Given the description of an element on the screen output the (x, y) to click on. 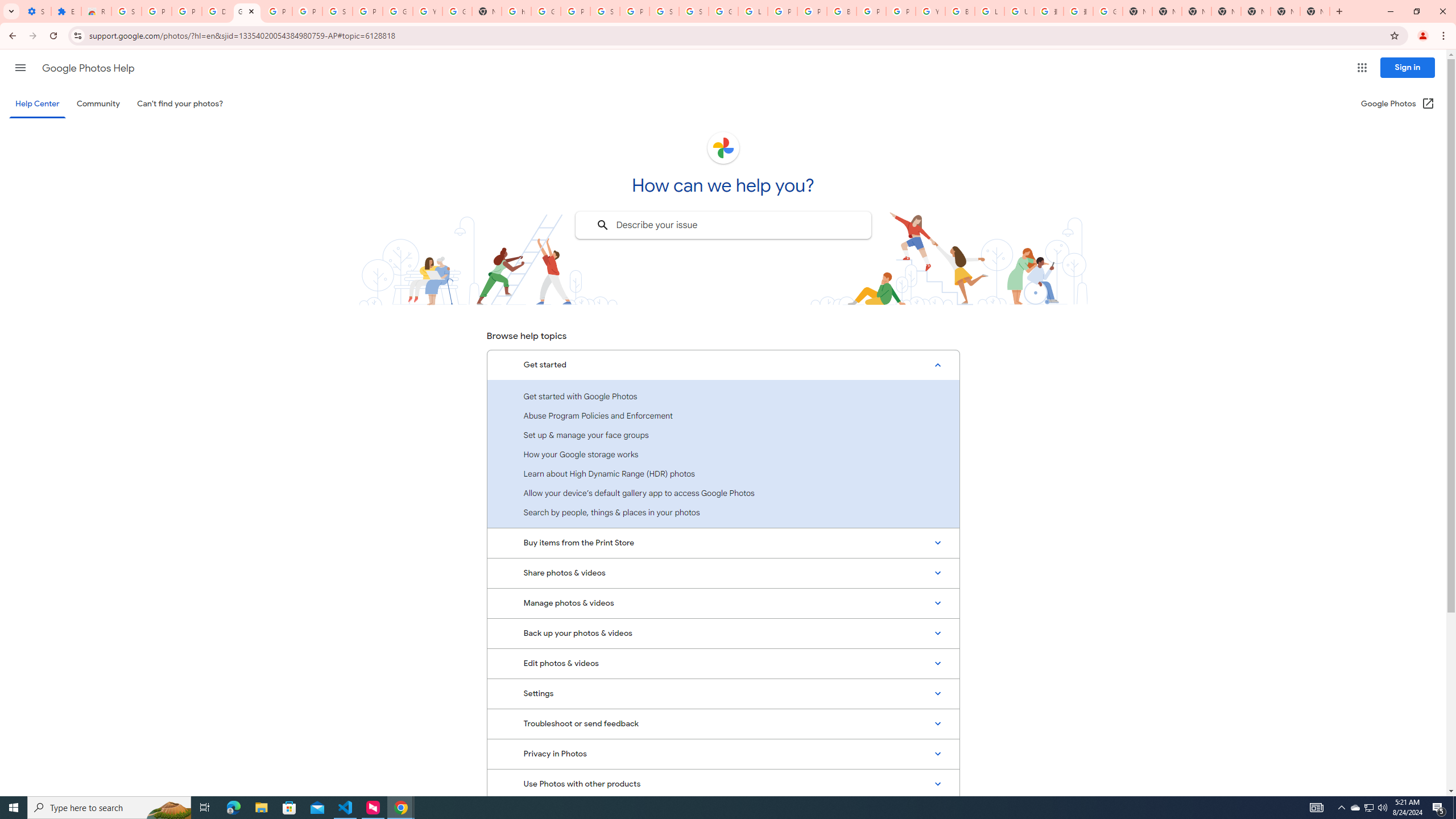
Main menu (20, 67)
Privacy in Photos (722, 754)
Back up your photos & videos (722, 633)
Google Images (1107, 11)
Delete photos & videos - Computer - Google Photos Help (216, 11)
